Given the description of an element on the screen output the (x, y) to click on. 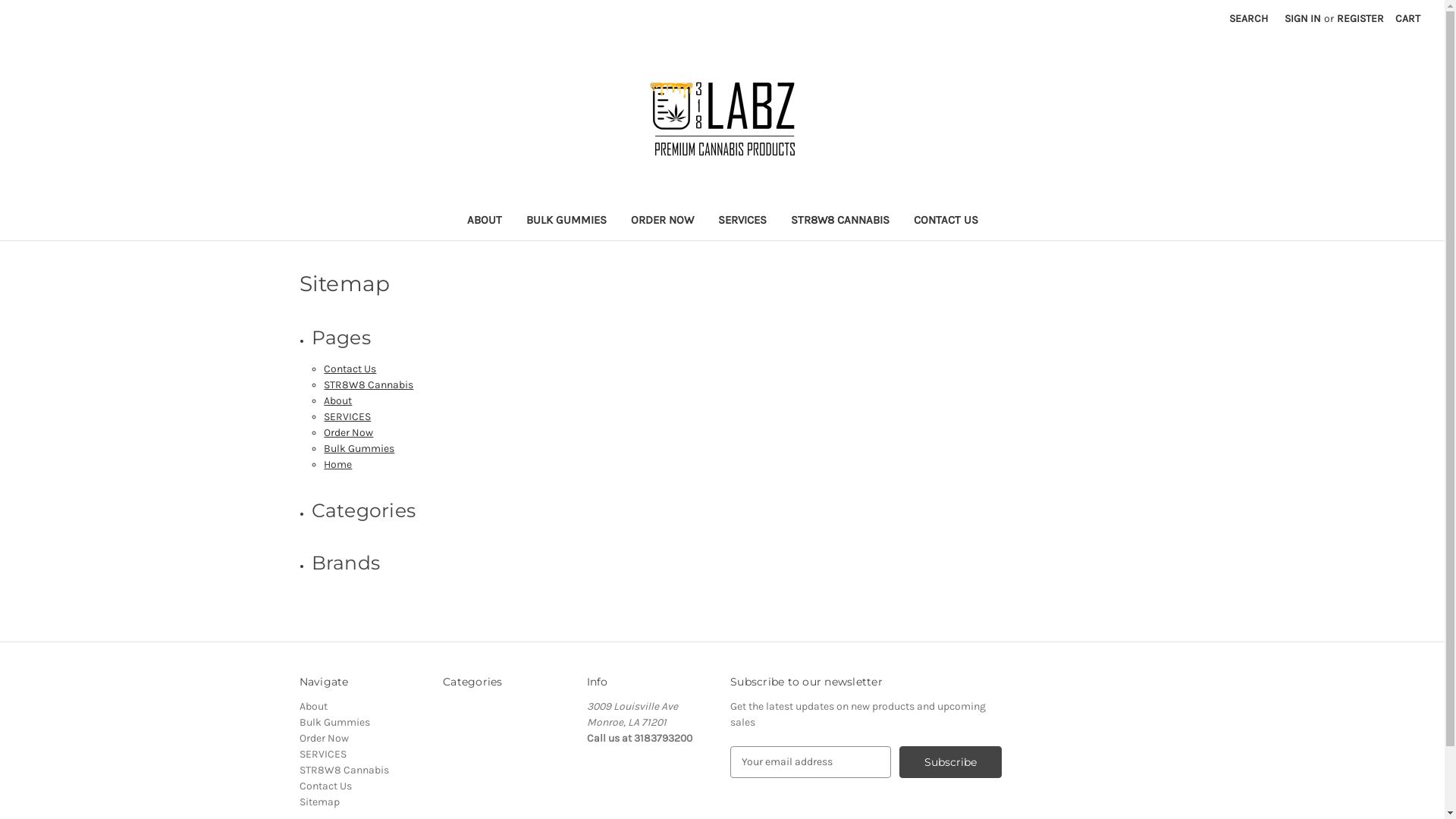
Order Now Element type: text (323, 737)
SERVICES Element type: text (741, 221)
SERVICES Element type: text (346, 416)
CART Element type: text (1407, 18)
STR8W8 Cannabis Element type: text (343, 769)
SEARCH Element type: text (1248, 18)
SERVICES Element type: text (321, 753)
318 Labz Element type: hover (721, 117)
REGISTER Element type: text (1360, 18)
Bulk Gummies Element type: text (333, 721)
Contact Us Element type: text (349, 368)
CONTACT US Element type: text (944, 221)
Order Now Element type: text (348, 432)
About Element type: text (312, 705)
Subscribe Element type: text (950, 762)
Bulk Gummies Element type: text (358, 448)
STR8W8 CANNABIS Element type: text (839, 221)
Sitemap Element type: text (318, 801)
Contact Us Element type: text (324, 785)
ORDER NOW Element type: text (662, 221)
BULK GUMMIES Element type: text (566, 221)
About Element type: text (337, 400)
ABOUT Element type: text (484, 221)
STR8W8 Cannabis Element type: text (368, 384)
Home Element type: text (337, 464)
SIGN IN Element type: text (1302, 18)
